Given the description of an element on the screen output the (x, y) to click on. 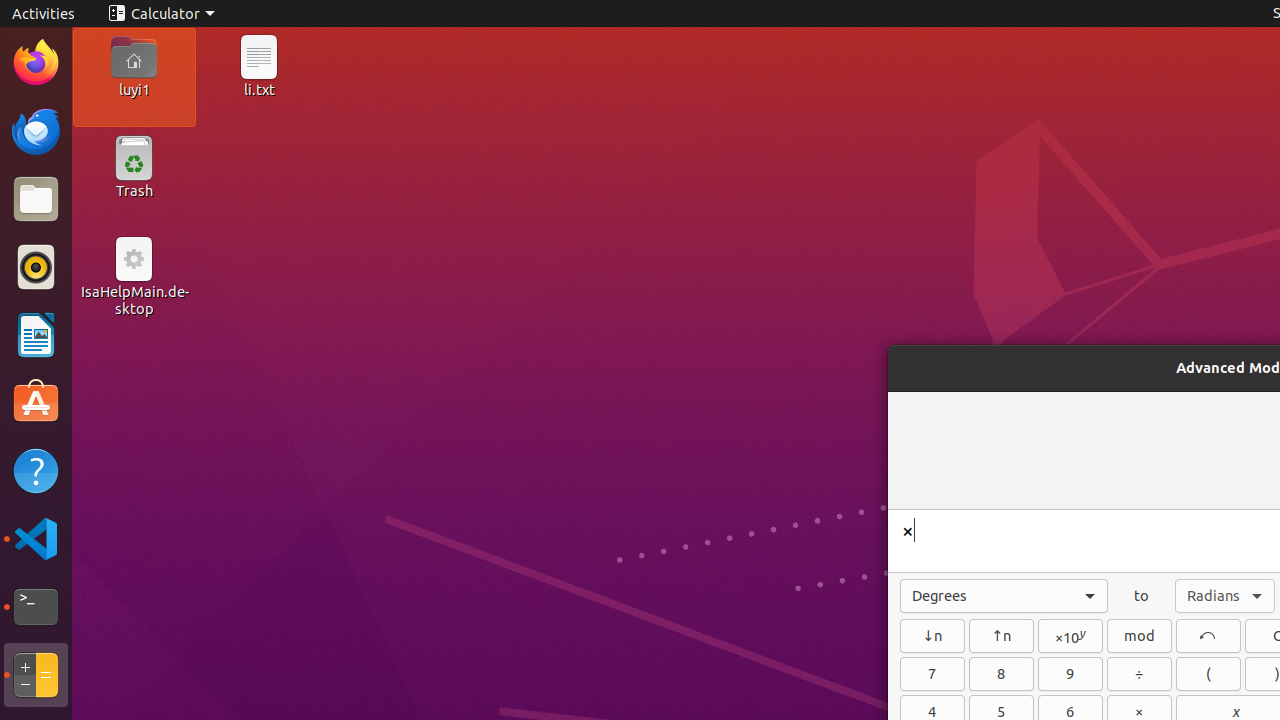
Radians Element type: combo-box (1225, 596)
luyi1 Element type: label (133, 89)
IsaHelpMain.desktop Element type: label (133, 300)
7 Element type: push-button (932, 674)
